Given the description of an element on the screen output the (x, y) to click on. 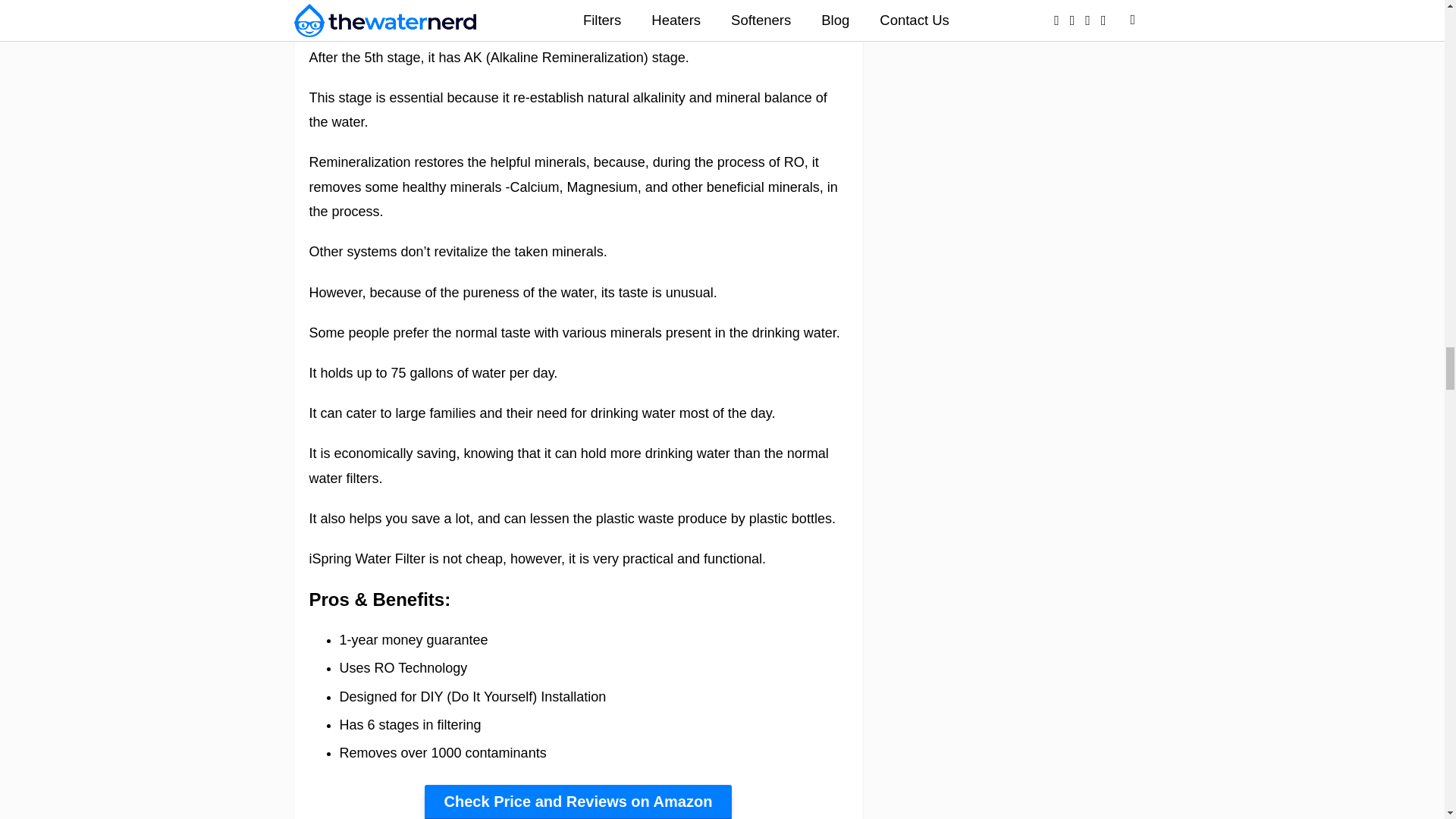
Check Price and Reviews on Amazon (578, 801)
